Given the description of an element on the screen output the (x, y) to click on. 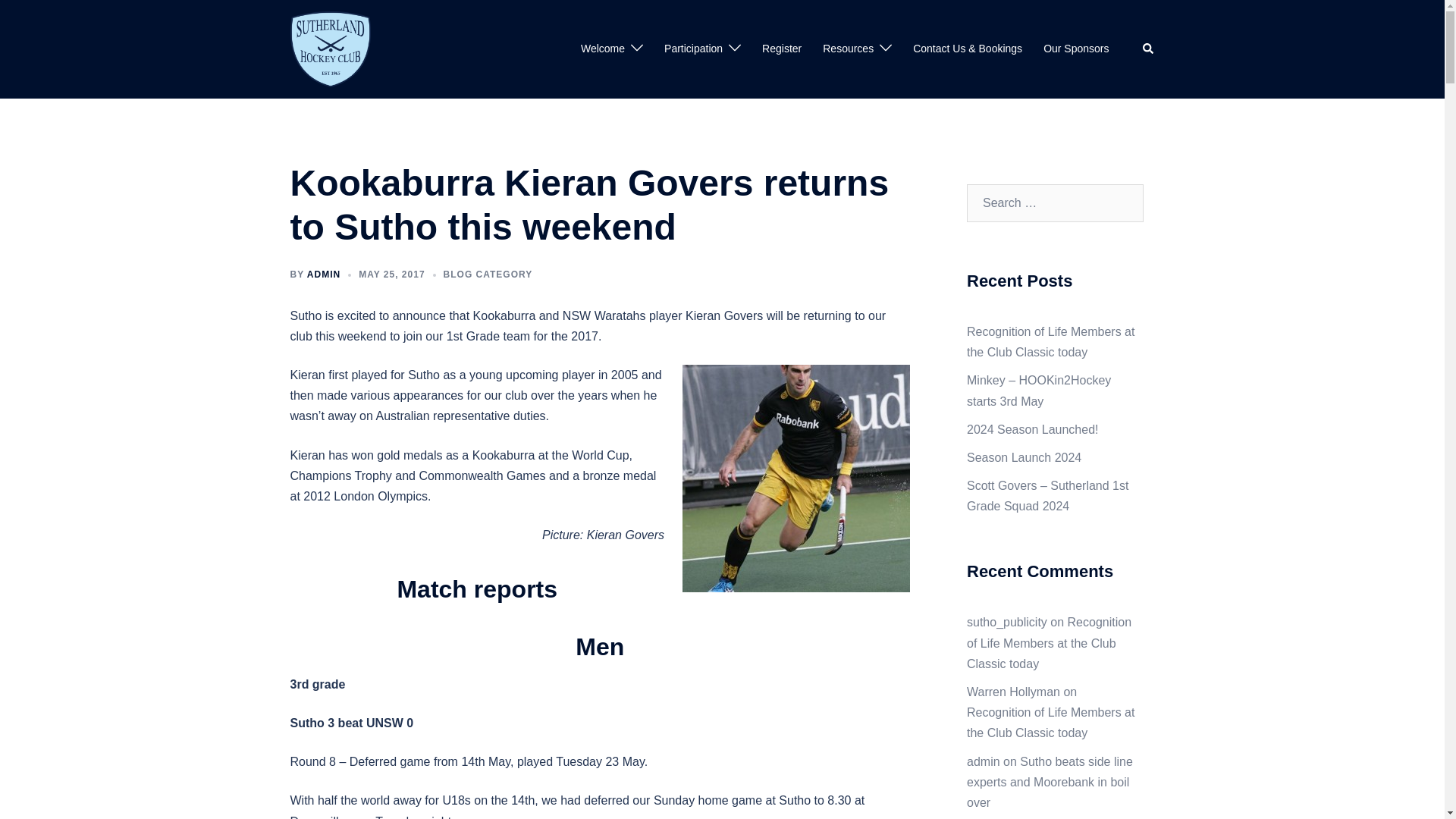
Search (1147, 49)
Our Sponsors (1075, 49)
Resources (847, 49)
Welcome (602, 49)
Register (781, 49)
Participation (692, 49)
Sutherland Hockey Club (330, 47)
